Given the description of an element on the screen output the (x, y) to click on. 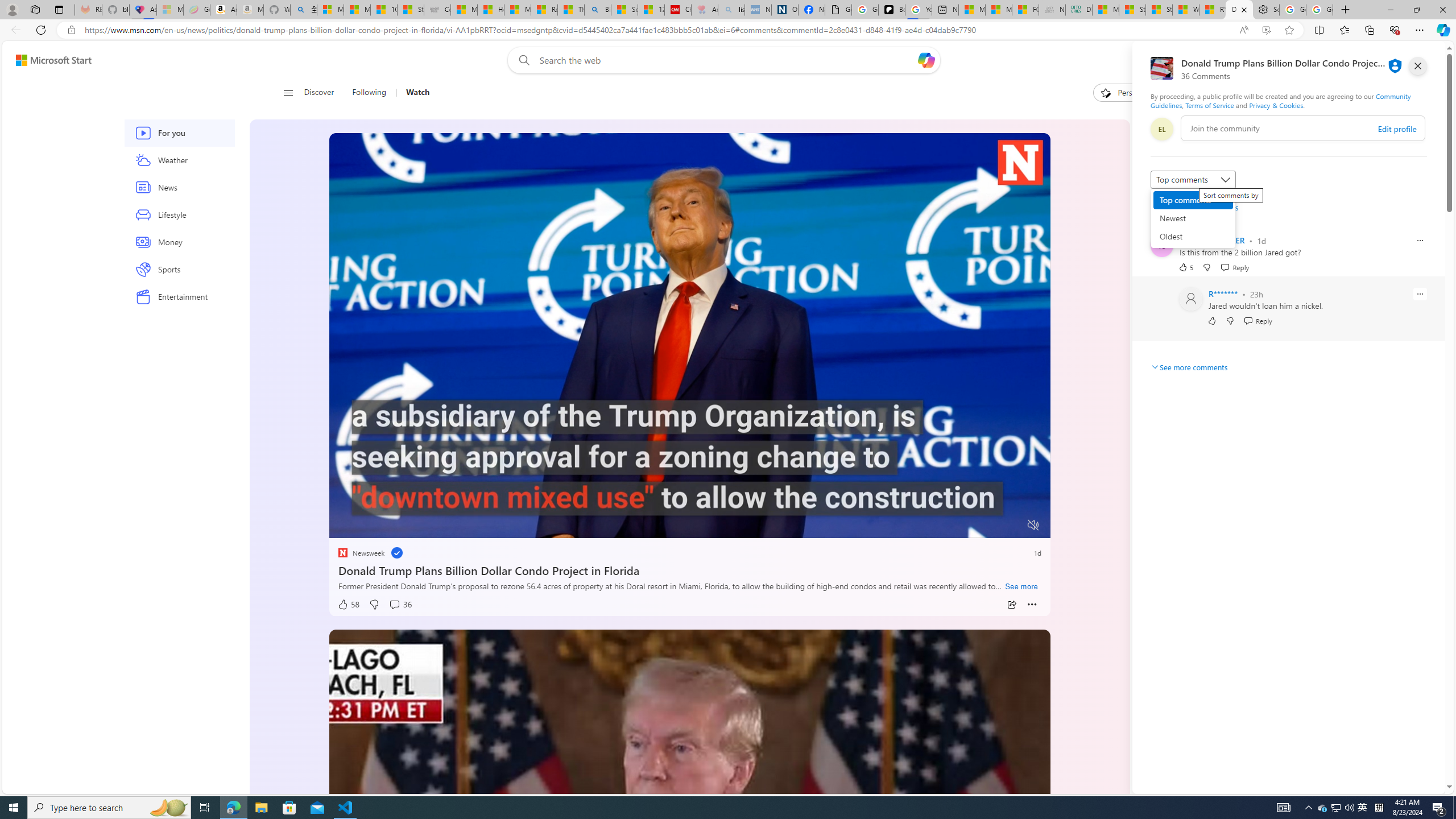
Reply Reply Comment (1257, 320)
58 Like (347, 604)
See more comments (1189, 367)
Edit profile (1396, 128)
Skip to footer (46, 59)
The Wall Street Journal (1165, 366)
Combat Siege (437, 9)
Fullscreen (1011, 525)
Open settings (1420, 60)
How To Borrow From Your Home Without Touching Your Mortgage (1228, 163)
